Given the description of an element on the screen output the (x, y) to click on. 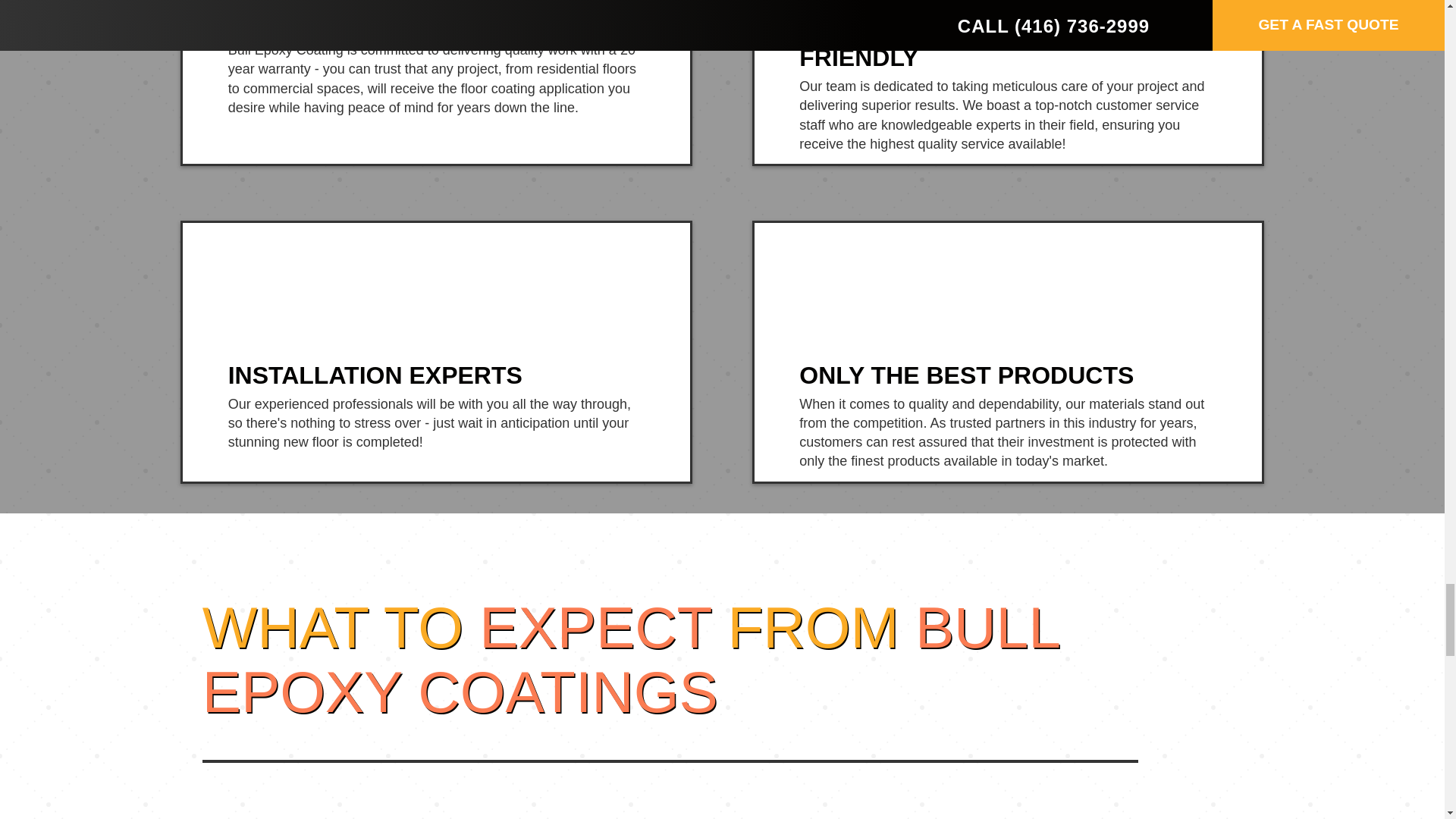
3 (1140, 814)
2 (728, 814)
1 (304, 814)
